Given the description of an element on the screen output the (x, y) to click on. 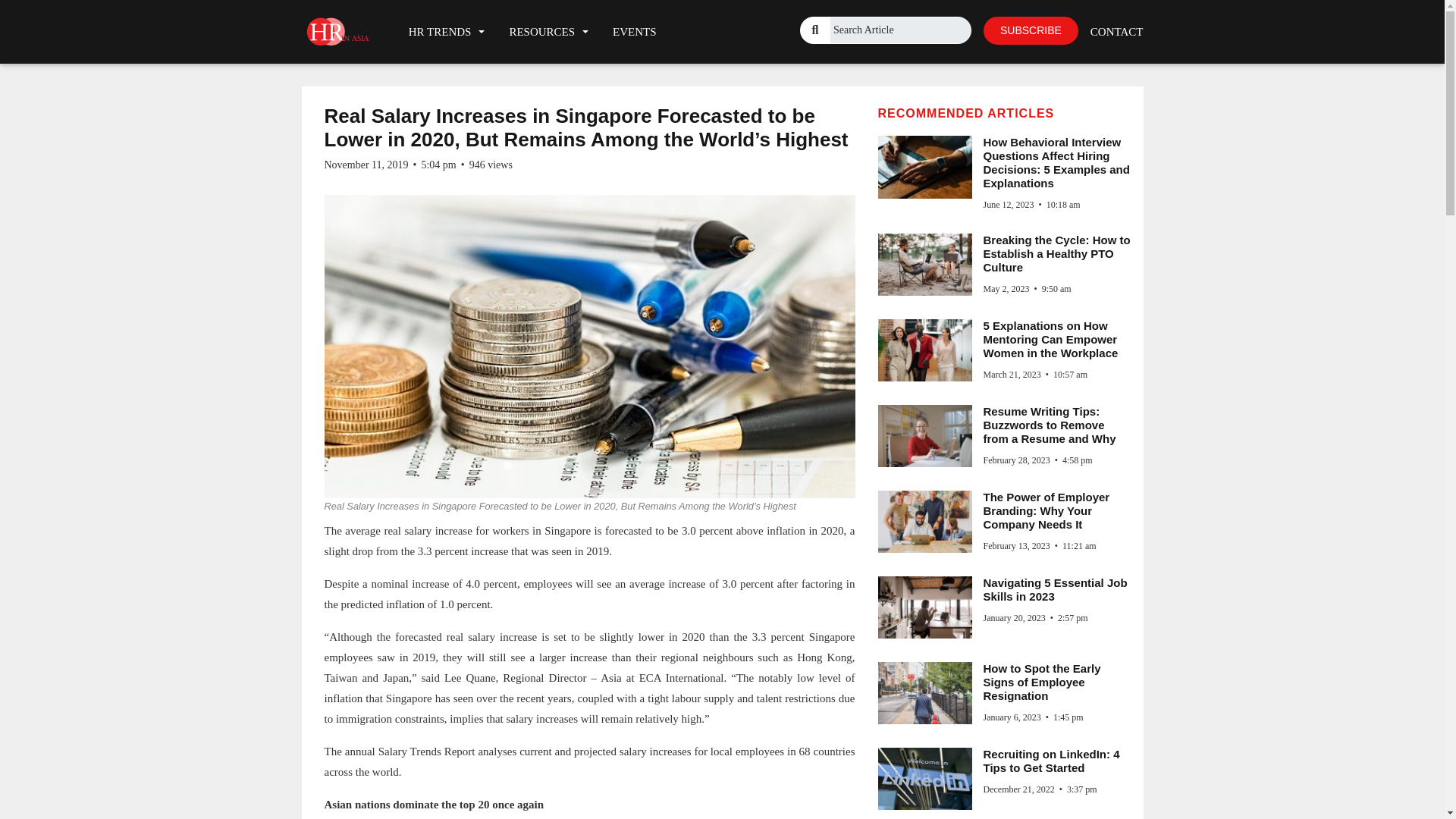
The Power of Employer Branding: Why Your Company Needs It (1045, 510)
SUBSCRIBE (1031, 30)
Breaking the Cycle: How to Establish a Healthy PTO Culture (1055, 253)
HR TRENDS (446, 31)
Recruiting on LinkedIn: 4 Tips to Get Started (1050, 760)
EVENTS (633, 31)
RESOURCES (547, 31)
